Given the description of an element on the screen output the (x, y) to click on. 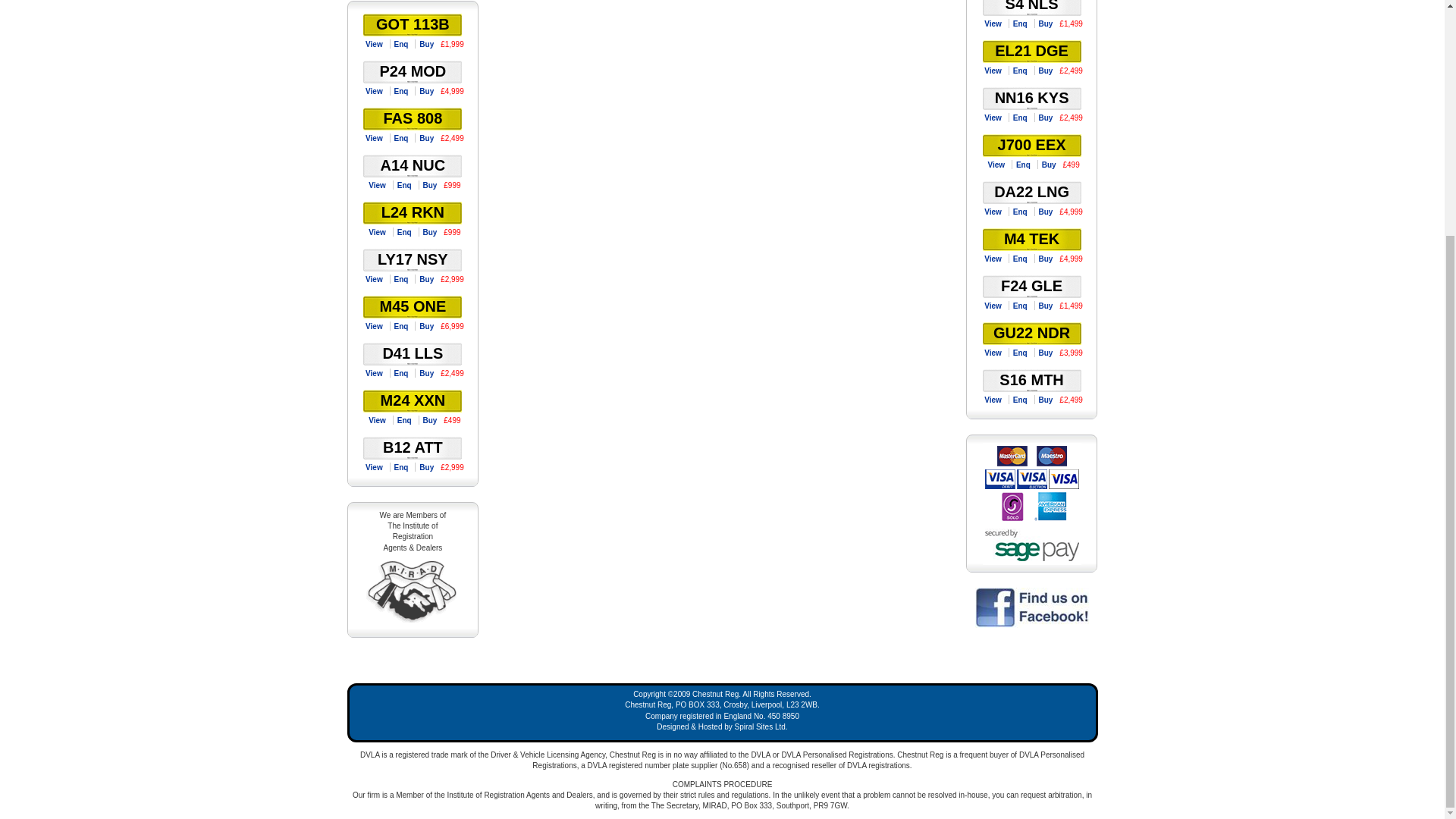
Buy (430, 232)
Buy Registration P24 MOD (426, 90)
Preview Registration L24 RKN (377, 232)
Buy Registration LY17 NSY (426, 279)
Preview Registration P24 MOD (374, 90)
Buy (426, 138)
Preview Registration LY17 NSY (374, 279)
Buy Registration L24 RKN (430, 232)
View (374, 138)
Enquire About Registration A14 NUC (403, 184)
Enq (401, 138)
GOT 113B (412, 24)
Preview Registration M45 ONE (374, 326)
Buy Registration GOT 113B (426, 44)
Preview Registration FAS 808 (374, 138)
